Given the description of an element on the screen output the (x, y) to click on. 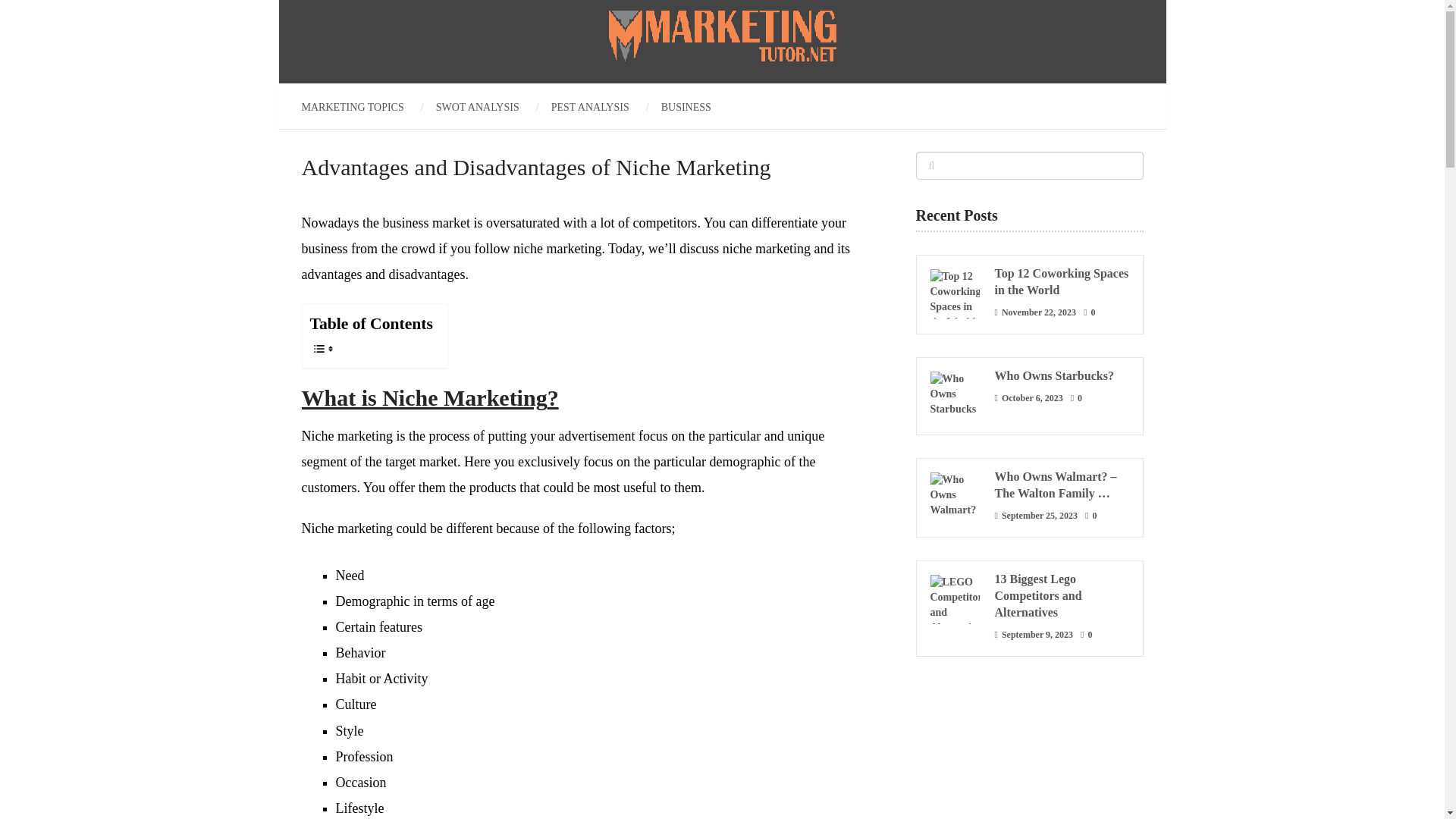
SWOT ANALYSIS (477, 107)
Top 12 Coworking Spaces in the World (1029, 281)
MARKETING TOPICS (360, 107)
PEST ANALYSIS (590, 107)
Who Owns Starbucks? (1029, 375)
BUSINESS (685, 107)
13 Biggest Lego Competitors and Alternatives (1029, 595)
